Given the description of an element on the screen output the (x, y) to click on. 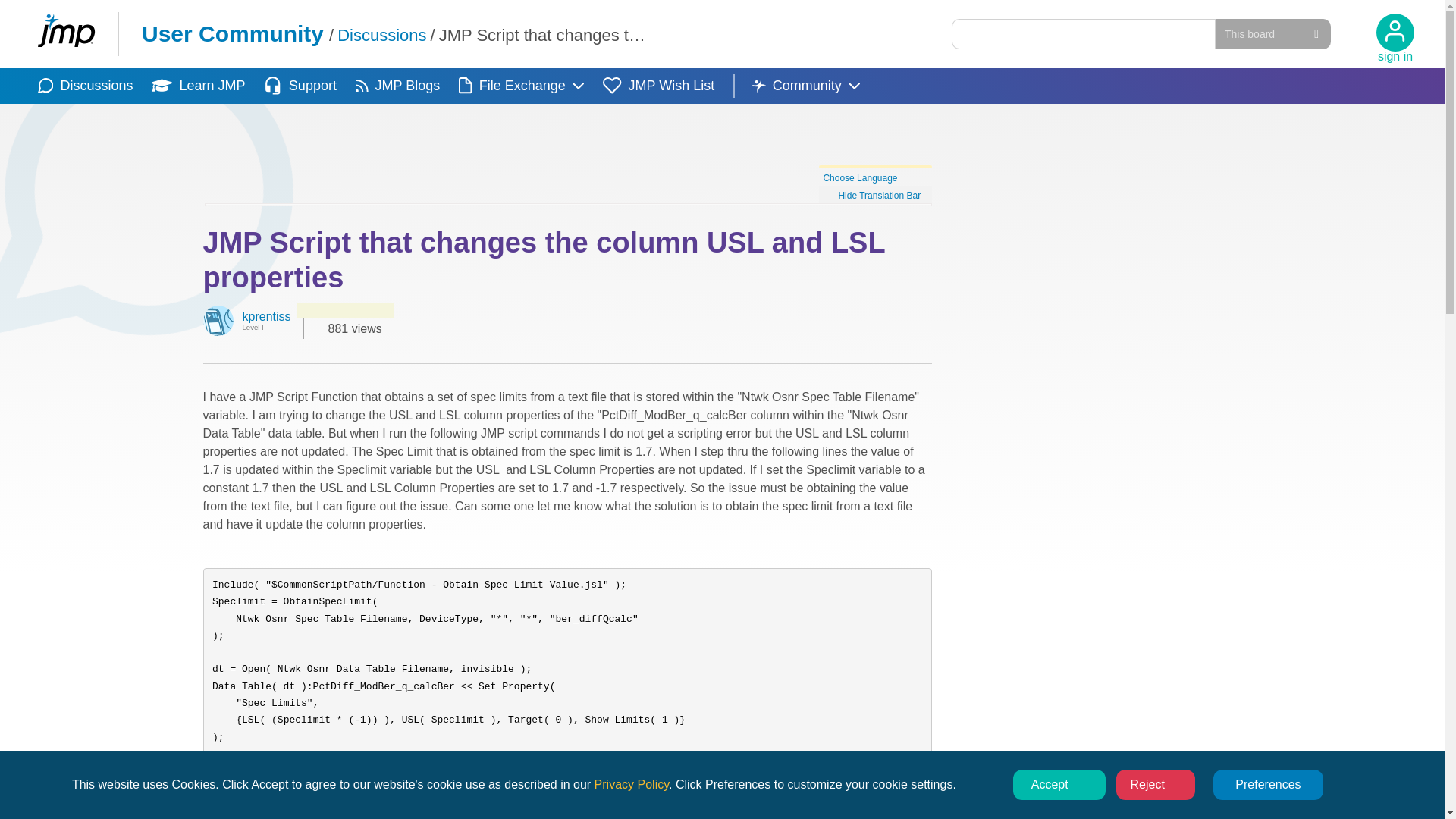
File Exchange (520, 85)
Search Granularity (1272, 33)
User Community (232, 33)
Discussions (381, 35)
Search (1083, 33)
Learn JMP (197, 85)
Community (806, 85)
Support (299, 85)
Reject (1155, 784)
Discussions (84, 85)
Search (967, 33)
Search (874, 184)
JMP Blogs (967, 33)
Search (397, 85)
